Given the description of an element on the screen output the (x, y) to click on. 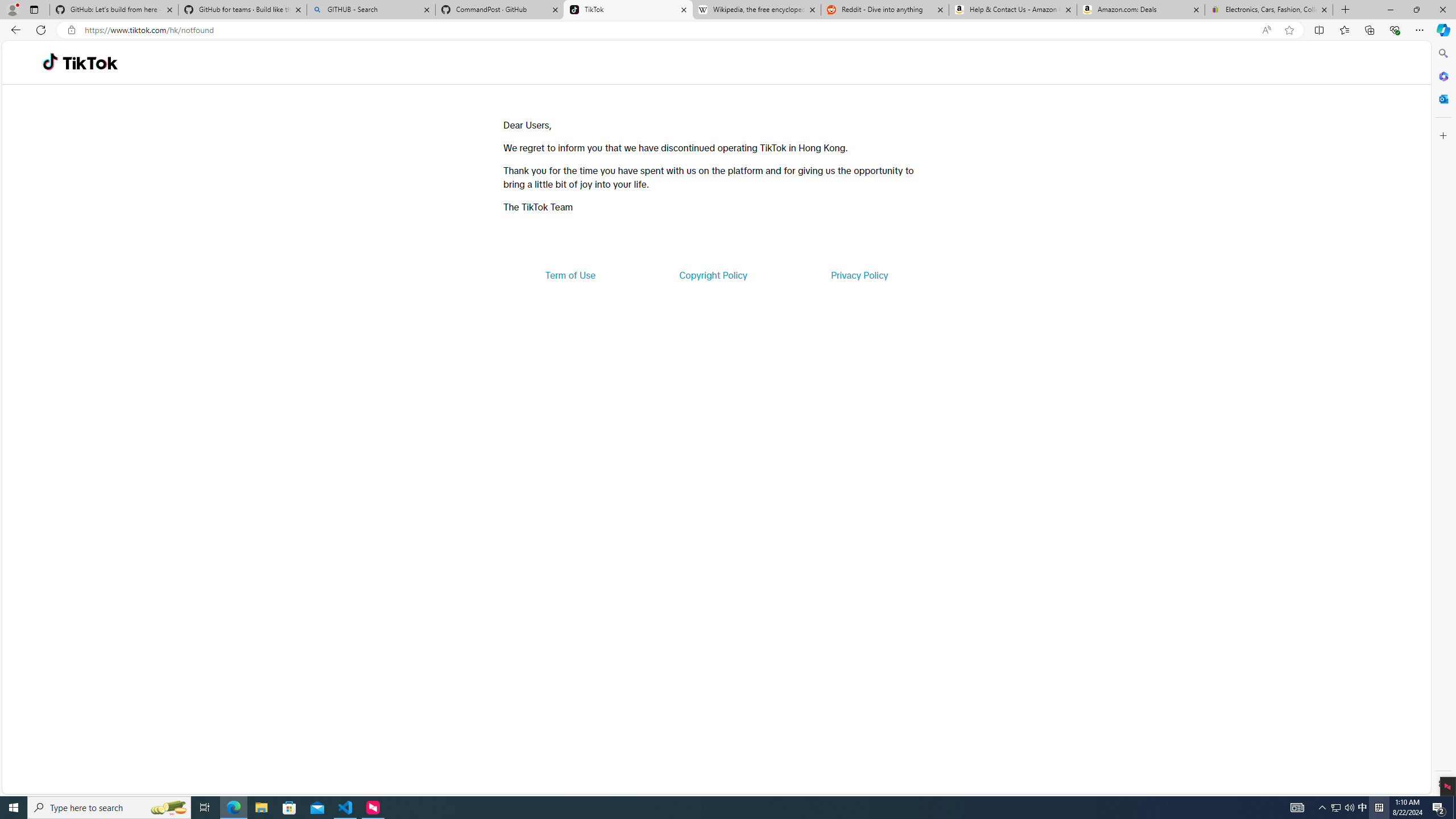
Side bar (1443, 418)
Customize (1442, 135)
Copyright Policy (712, 274)
Search (1442, 53)
